Given the description of an element on the screen output the (x, y) to click on. 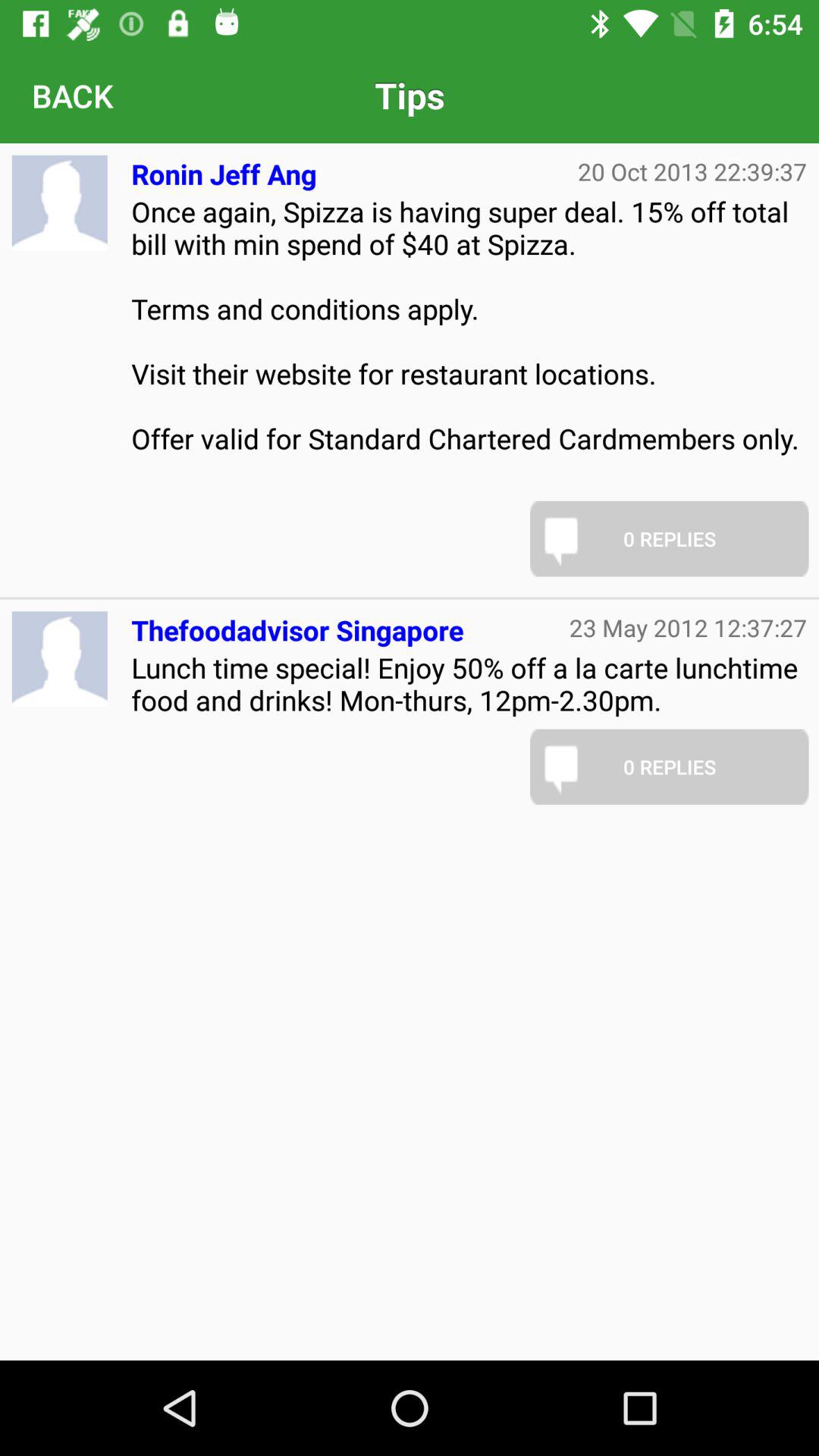
open item above lunch time special item (297, 623)
